Given the description of an element on the screen output the (x, y) to click on. 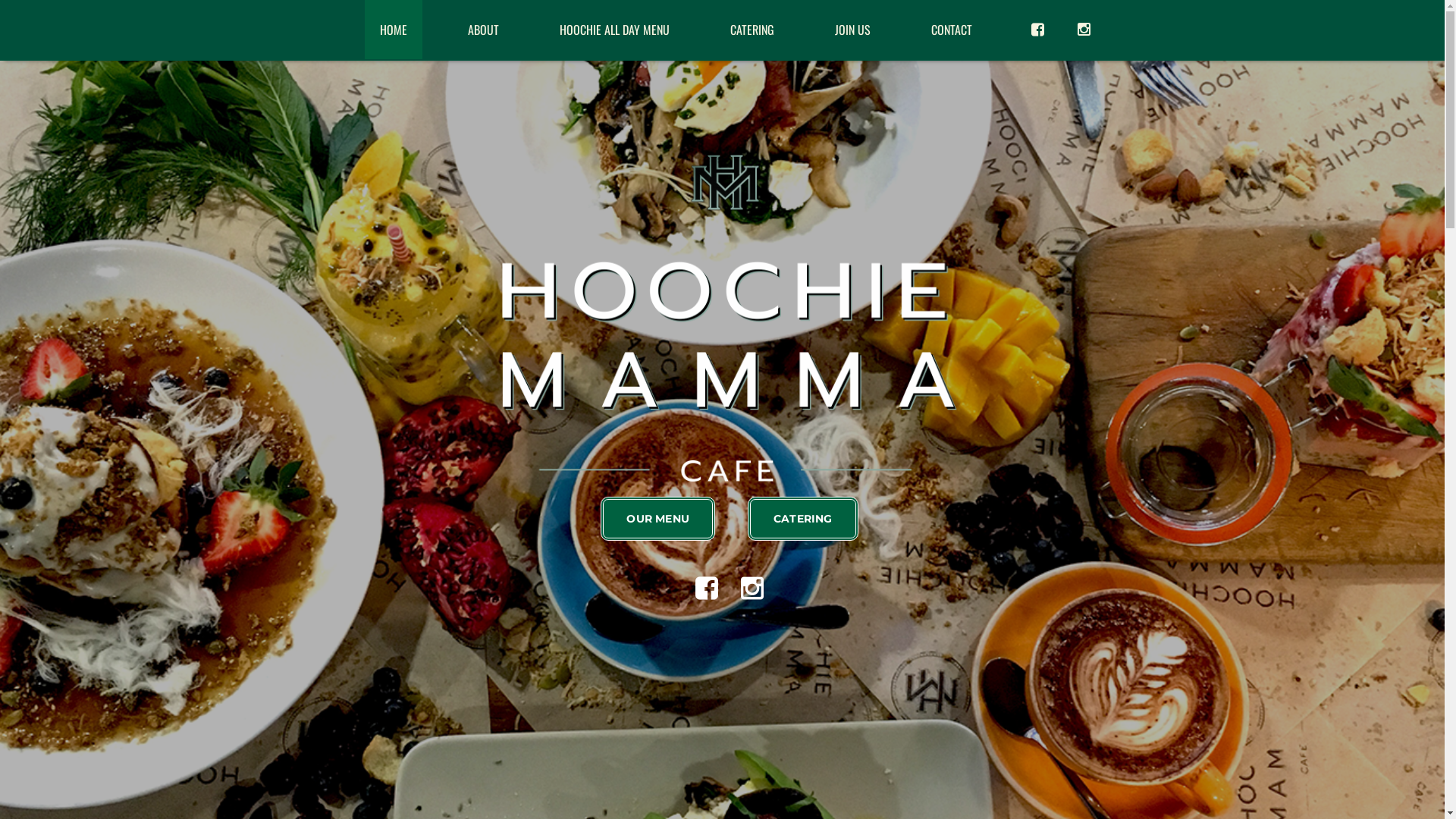
ABOUT Element type: text (482, 29)
CATERING Element type: text (802, 518)
HOME Element type: text (392, 29)
CONTACT Element type: text (951, 29)
JOIN US Element type: text (851, 29)
OUR MENU Element type: text (657, 518)
CATERING Element type: text (751, 29)
HOOCHIE ALL DAY MENU Element type: text (614, 29)
